Given the description of an element on the screen output the (x, y) to click on. 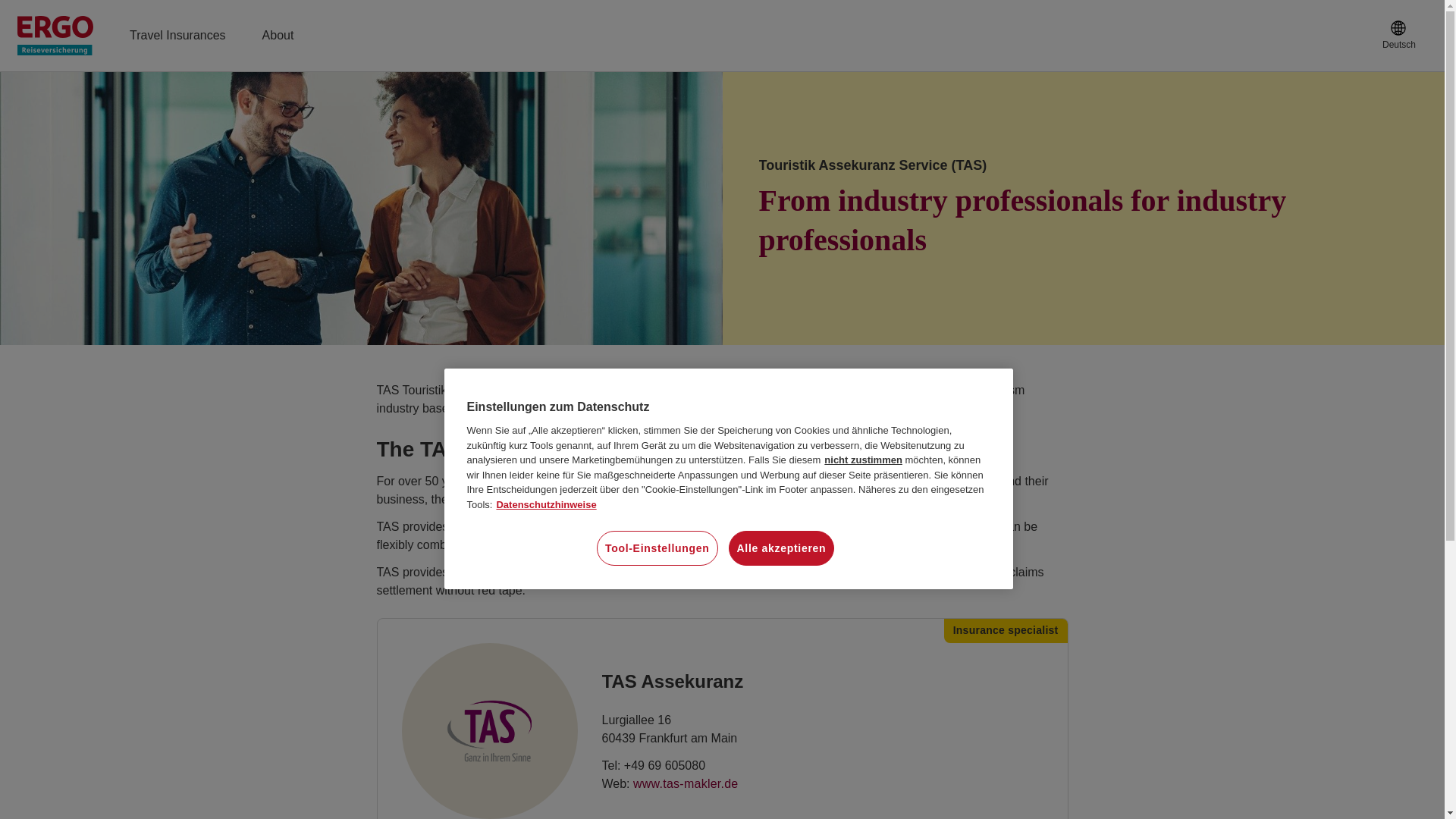
Datenschutzhinweise (545, 504)
Alle akzeptieren (781, 547)
Tool-Einstellungen (656, 547)
About (278, 34)
www.tas-service.de (685, 783)
nicht zustimmen (863, 460)
www.tas-makler.de (685, 783)
Travel Insurances (178, 34)
